Given the description of an element on the screen output the (x, y) to click on. 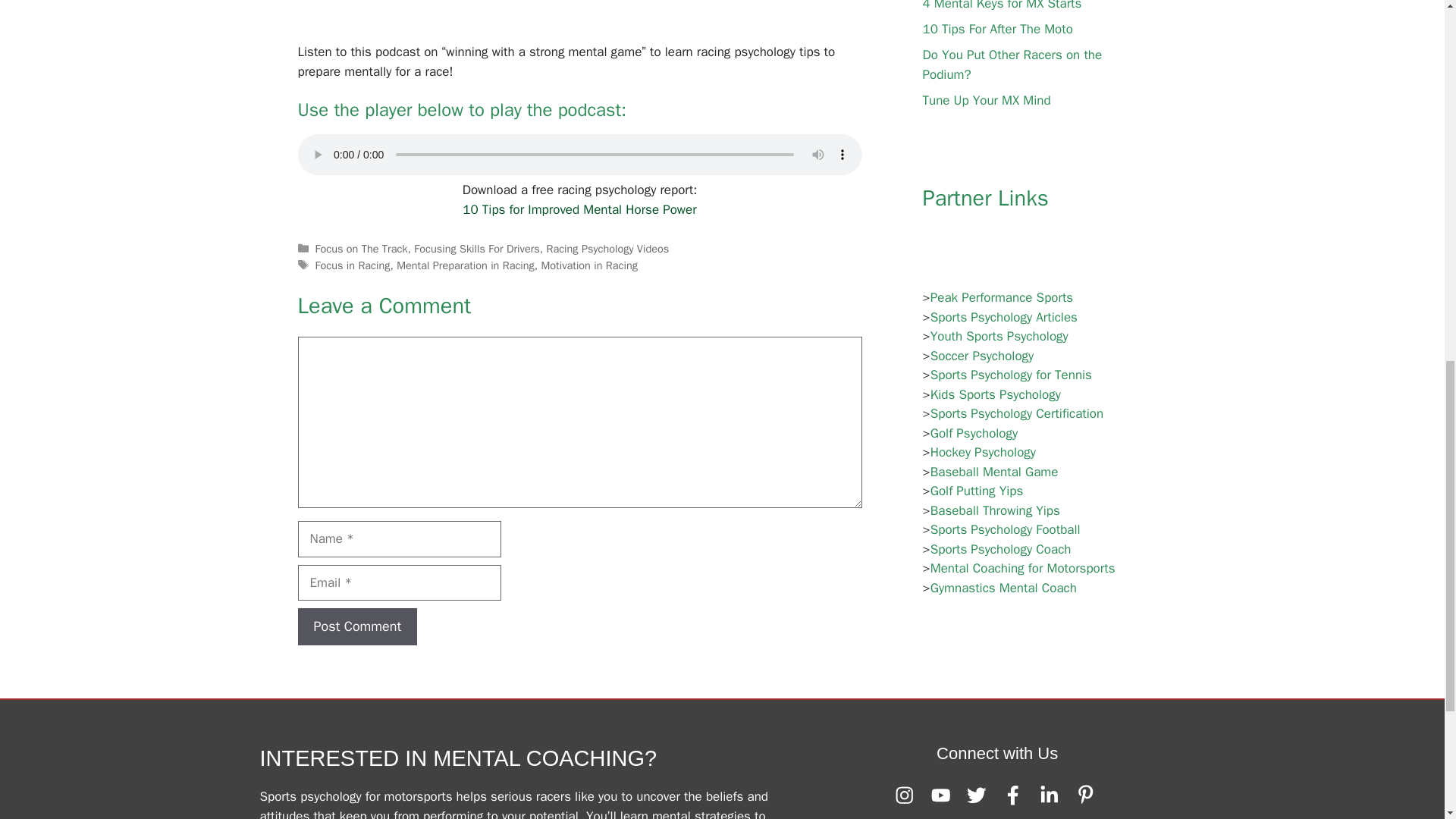
Scroll back to top (1406, 720)
Post Comment (356, 626)
Download our Free Racing Psychology Report (579, 209)
